Given the description of an element on the screen output the (x, y) to click on. 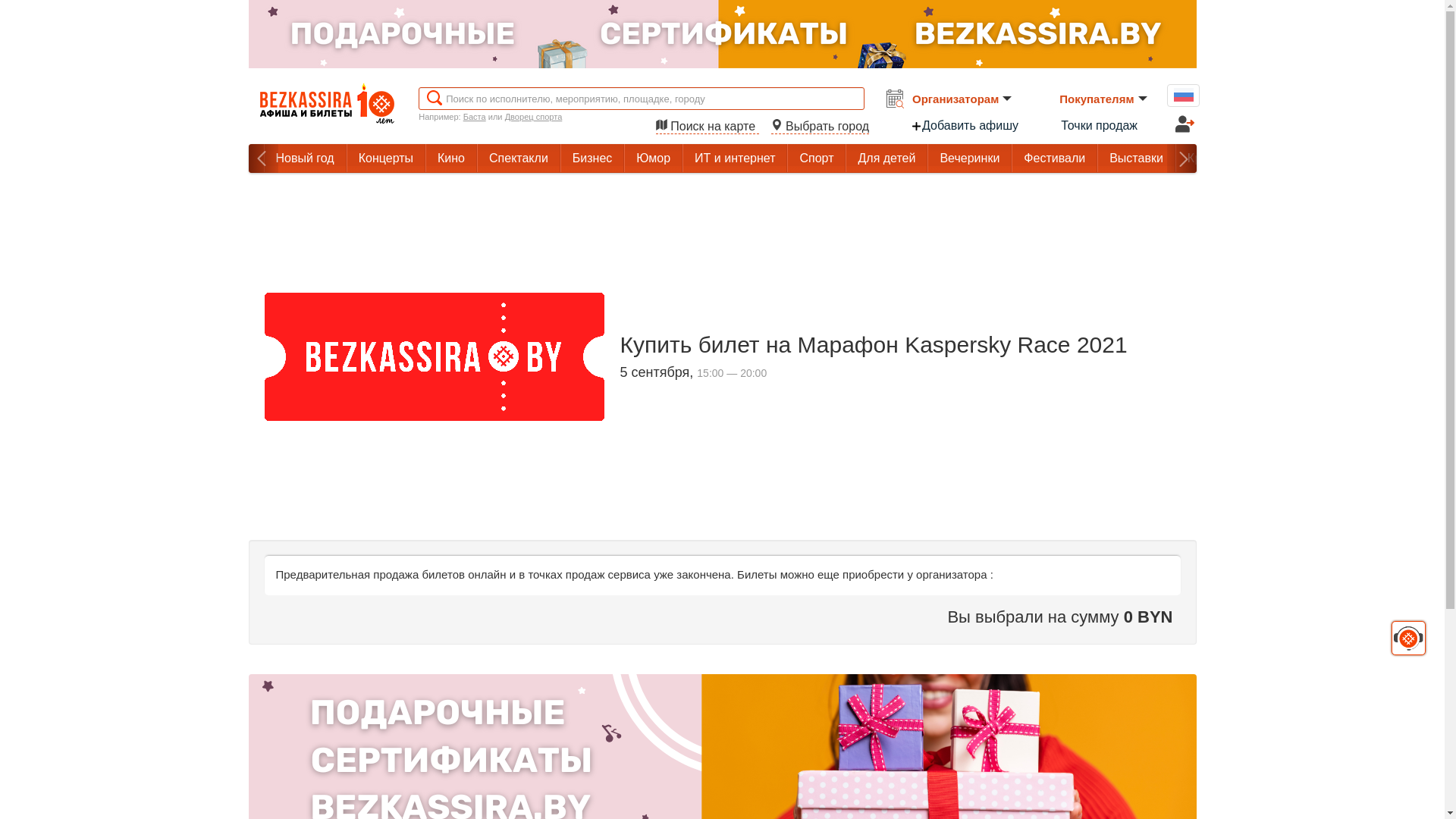
0 Element type: text (15, 10)
